Given the description of an element on the screen output the (x, y) to click on. 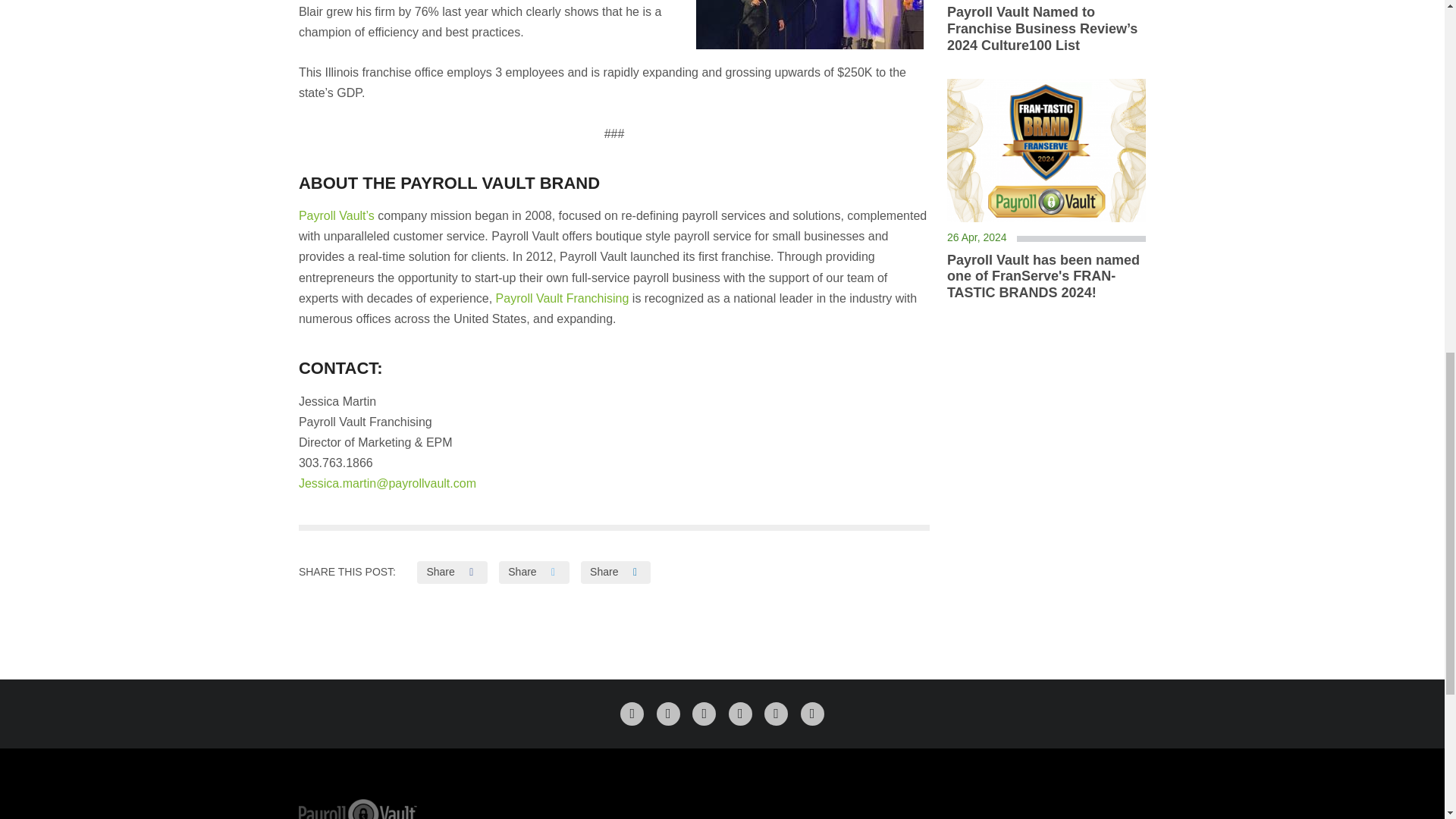
Share (534, 572)
FACEBOOK (631, 713)
INSTAGRAM (775, 713)
Share (451, 572)
Share (615, 572)
Payroll Vault (336, 215)
LINKEDIN (704, 713)
Payroll Vault Franchising (562, 297)
GMB (740, 713)
YOUTUBE (812, 713)
Payroll Vault Franchising (562, 297)
TWITTER (667, 713)
